Given the description of an element on the screen output the (x, y) to click on. 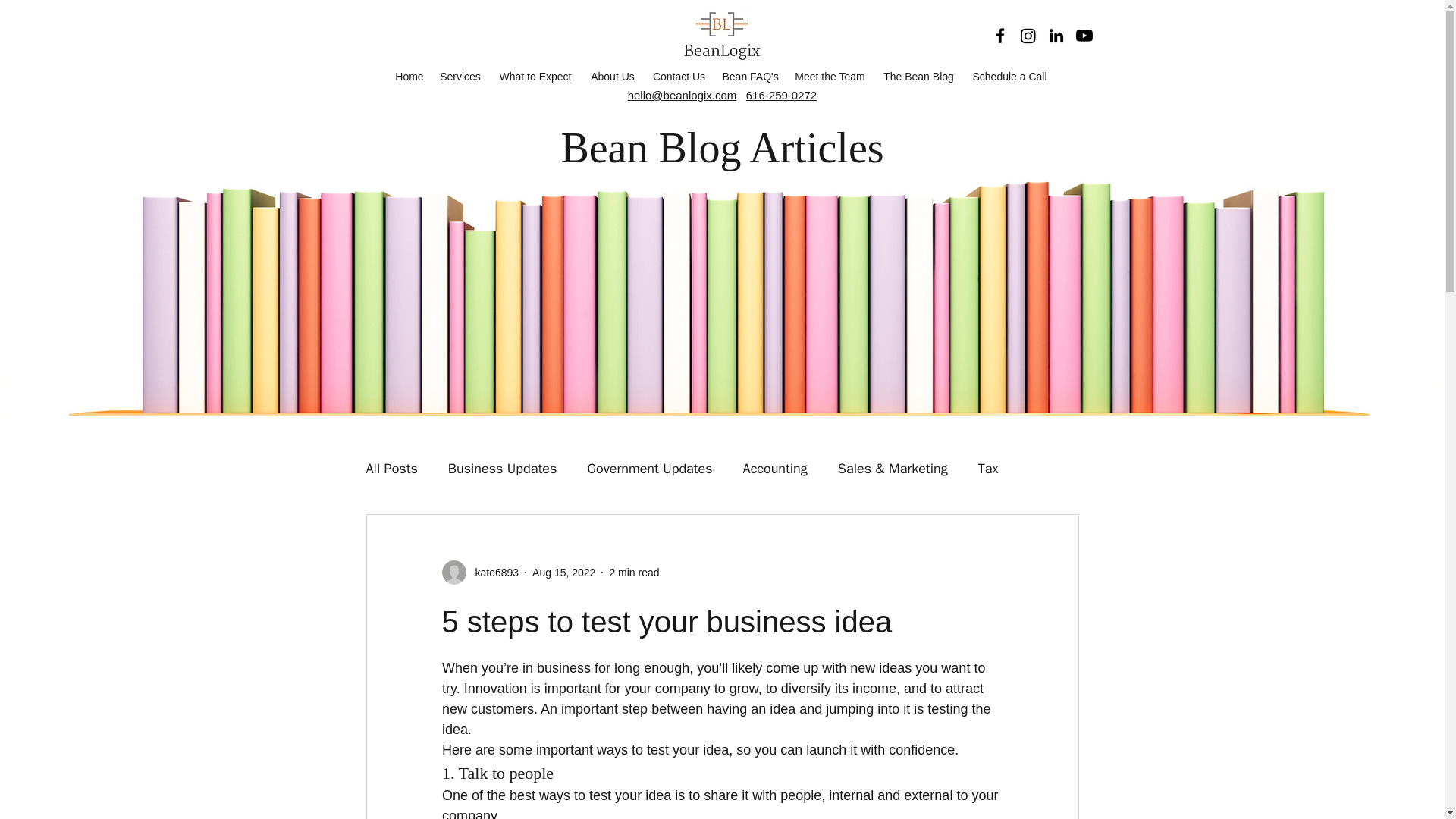
Services (460, 76)
The Bean Blog (918, 76)
kate6893 (491, 572)
All Posts (390, 468)
Bean FAQ's (749, 76)
Home (408, 76)
What to Expect (533, 76)
2 min read (633, 572)
Tax (988, 468)
Aug 15, 2022 (563, 572)
